Given the description of an element on the screen output the (x, y) to click on. 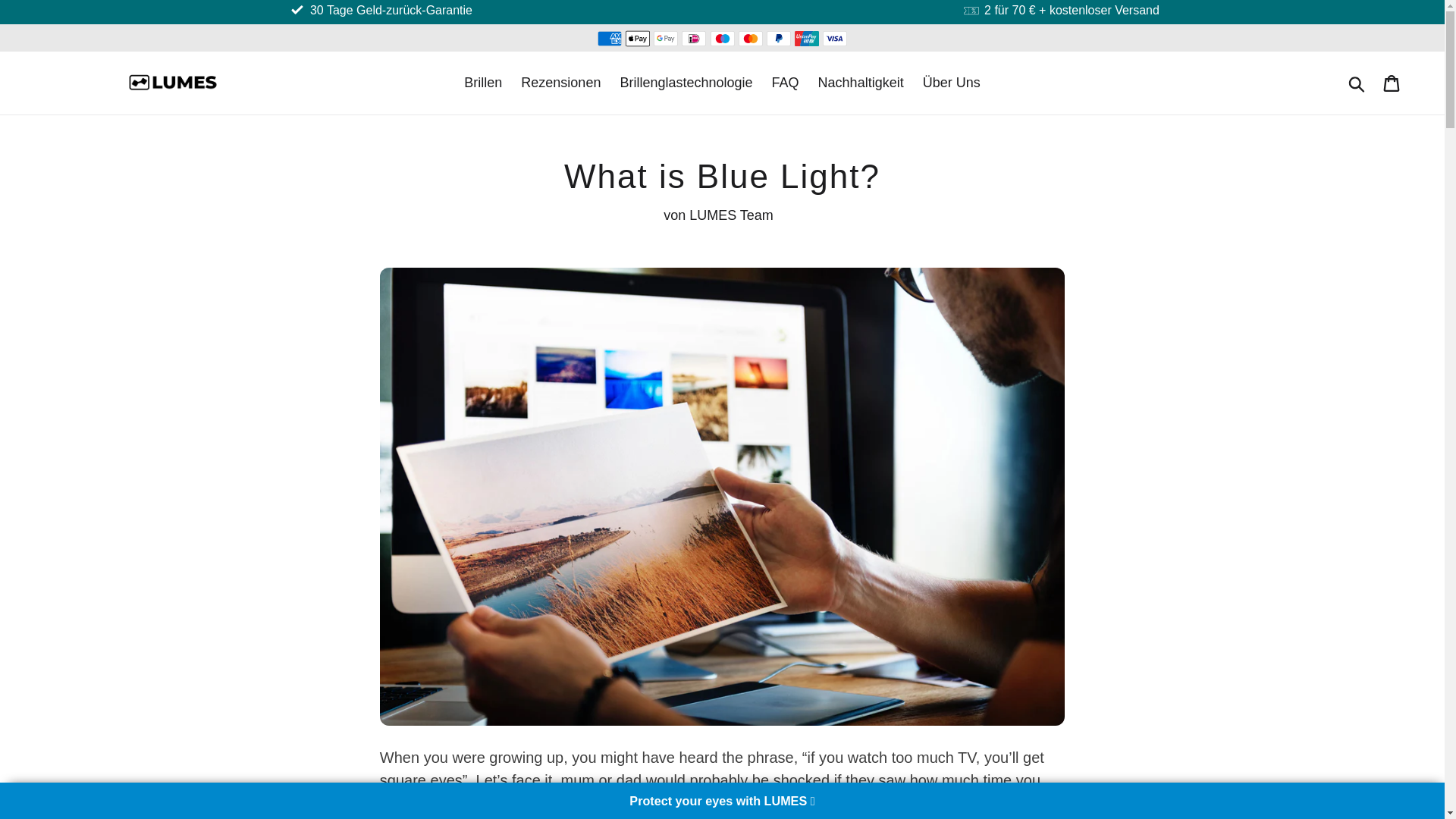
Brillen (483, 82)
Nachhaltigkeit (860, 82)
Visa (834, 38)
FAQ (785, 82)
Apple Pay (637, 38)
Suchen (1357, 82)
iDEAL (693, 38)
Mastercard (750, 38)
Maestro (721, 38)
Google Pay (665, 38)
Union Pay (806, 38)
Brillenglastechnologie (685, 82)
Einkaufswagen (1392, 82)
American Express (608, 38)
PayPal (778, 38)
